Given the description of an element on the screen output the (x, y) to click on. 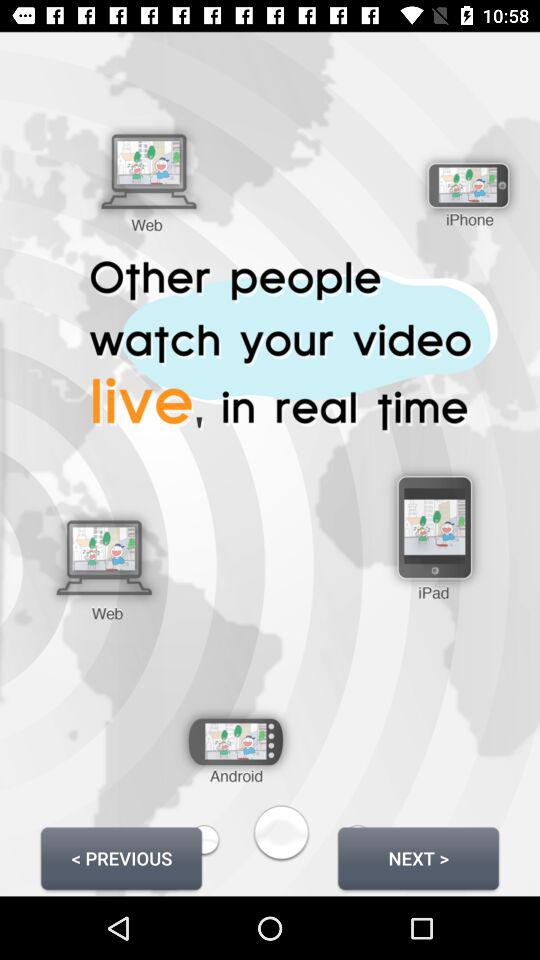
open < previous button (121, 858)
